Given the description of an element on the screen output the (x, y) to click on. 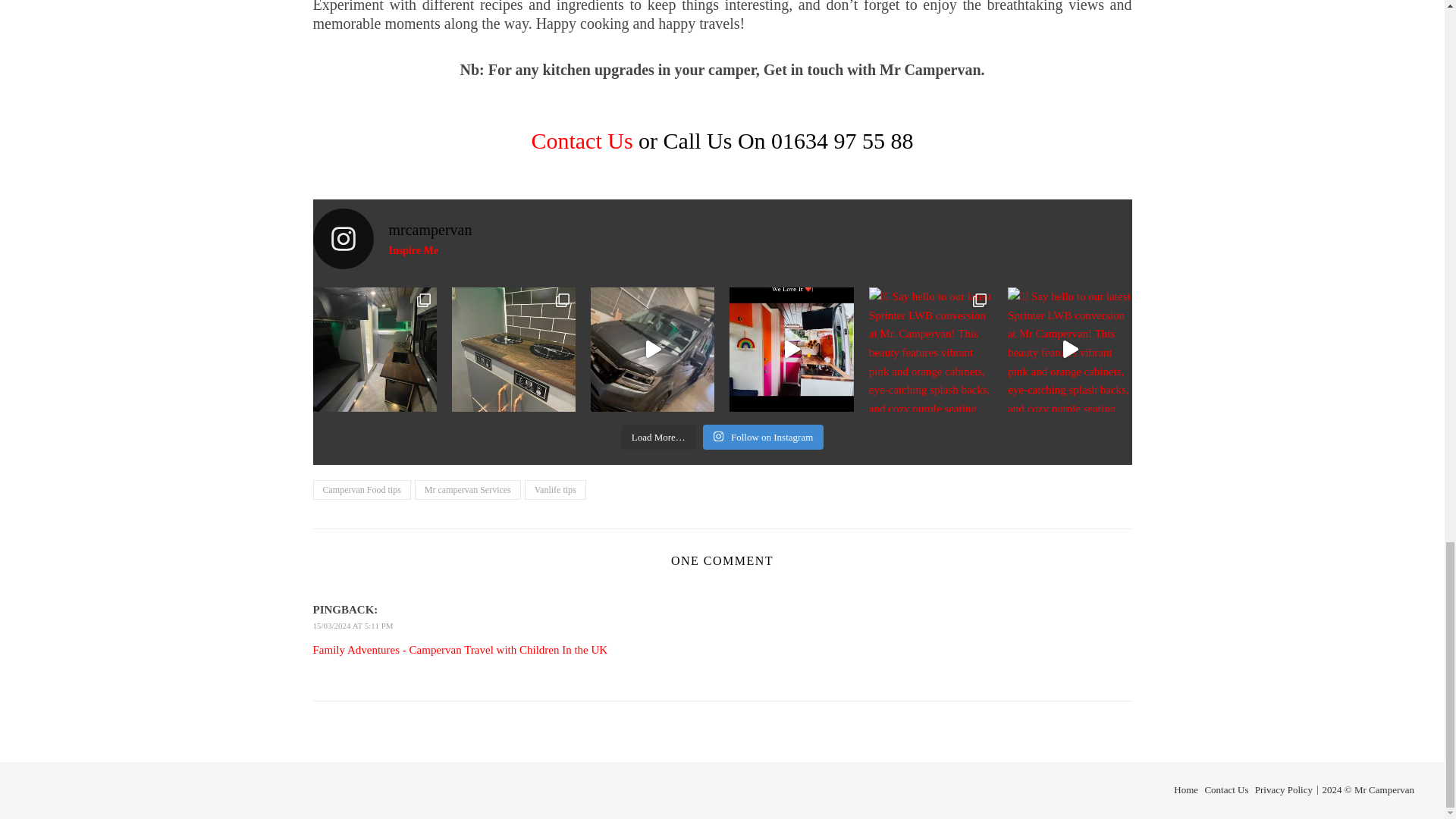
Follow on Instagram (722, 238)
Contact Us (763, 436)
